Given the description of an element on the screen output the (x, y) to click on. 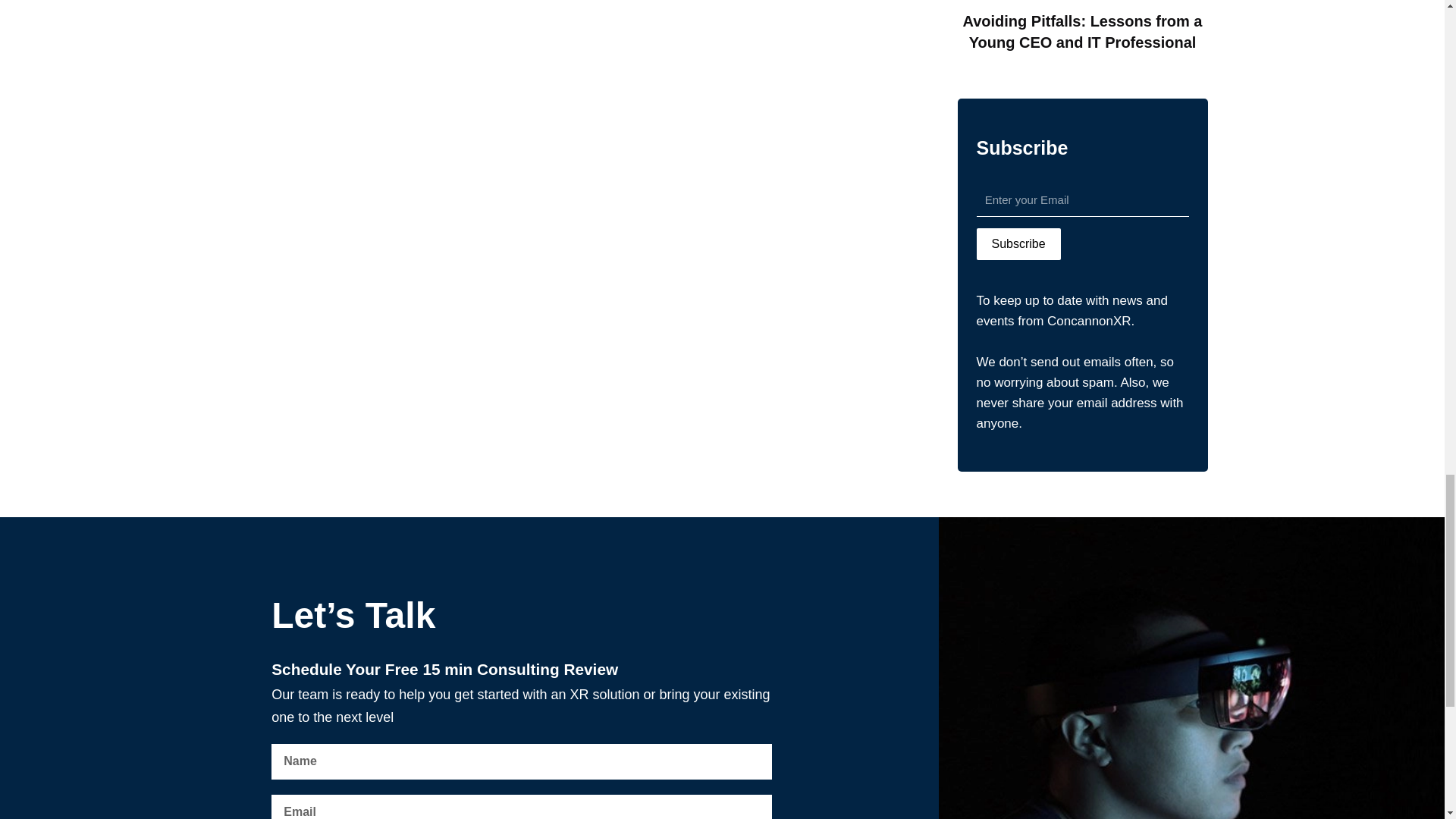
Subscribe (1018, 244)
